Given the description of an element on the screen output the (x, y) to click on. 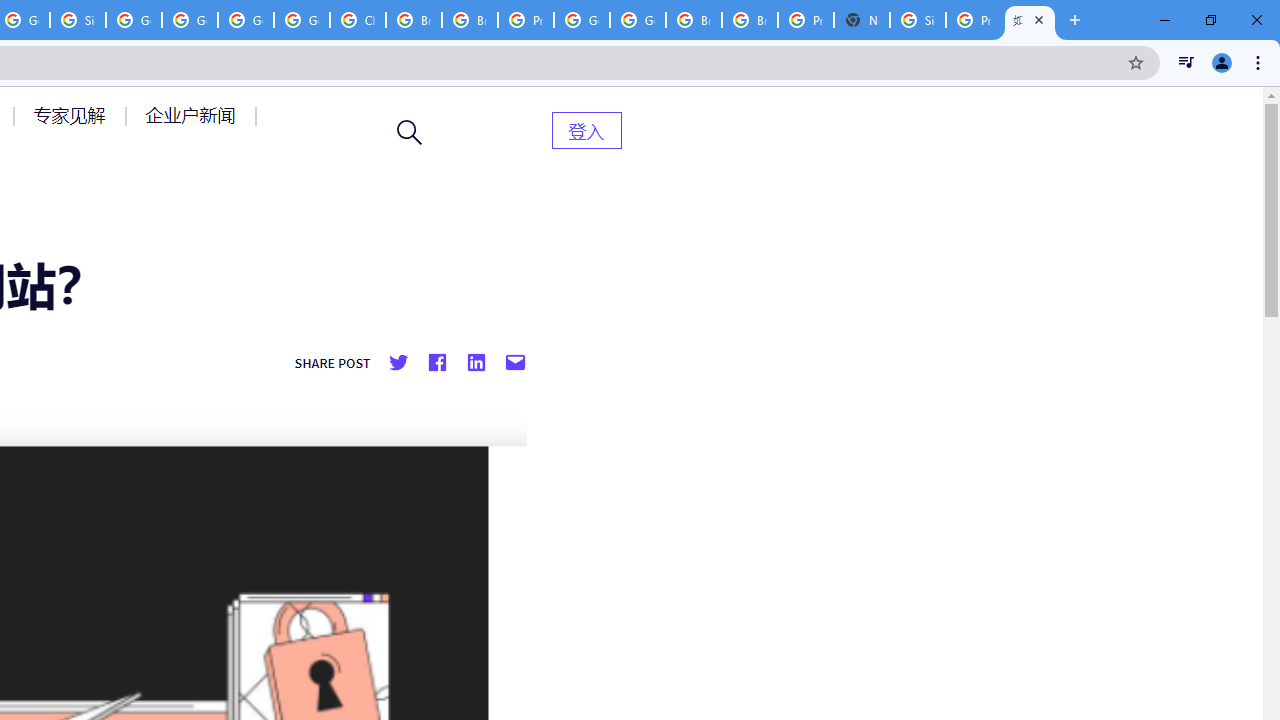
New Tab (861, 20)
Google Cloud Platform (582, 20)
Google Cloud Platform (245, 20)
Browse Chrome as a guest - Computer - Google Chrome Help (693, 20)
Browse Chrome as a guest - Computer - Google Chrome Help (469, 20)
Share on Linkedin (475, 363)
Share on facebook (436, 363)
Sign in - Google Accounts (917, 20)
